Given the description of an element on the screen output the (x, y) to click on. 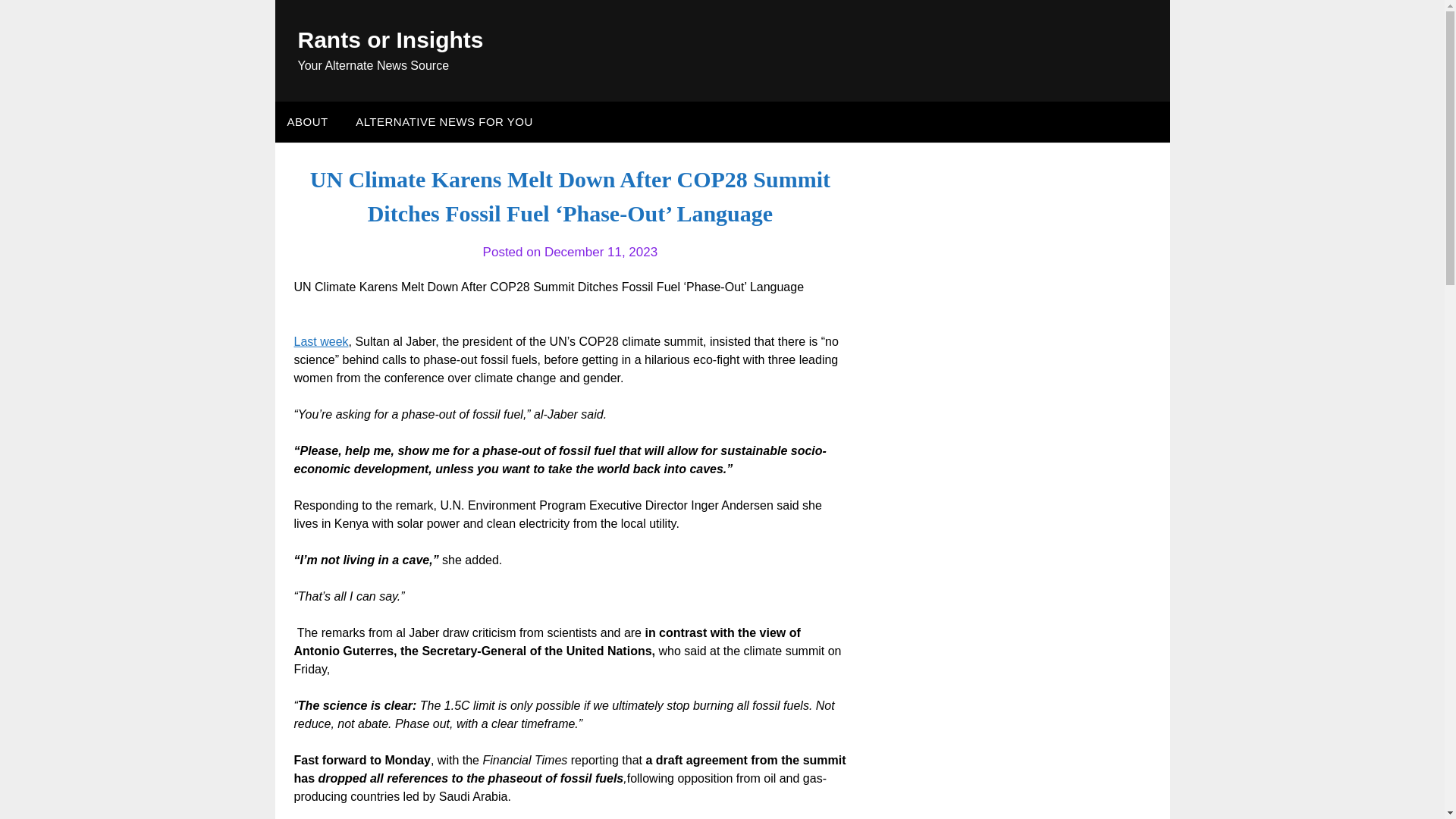
Rants or Insights (390, 39)
ALTERNATIVE NEWS FOR YOU (443, 121)
ABOUT (307, 121)
Last week (321, 341)
